Given the description of an element on the screen output the (x, y) to click on. 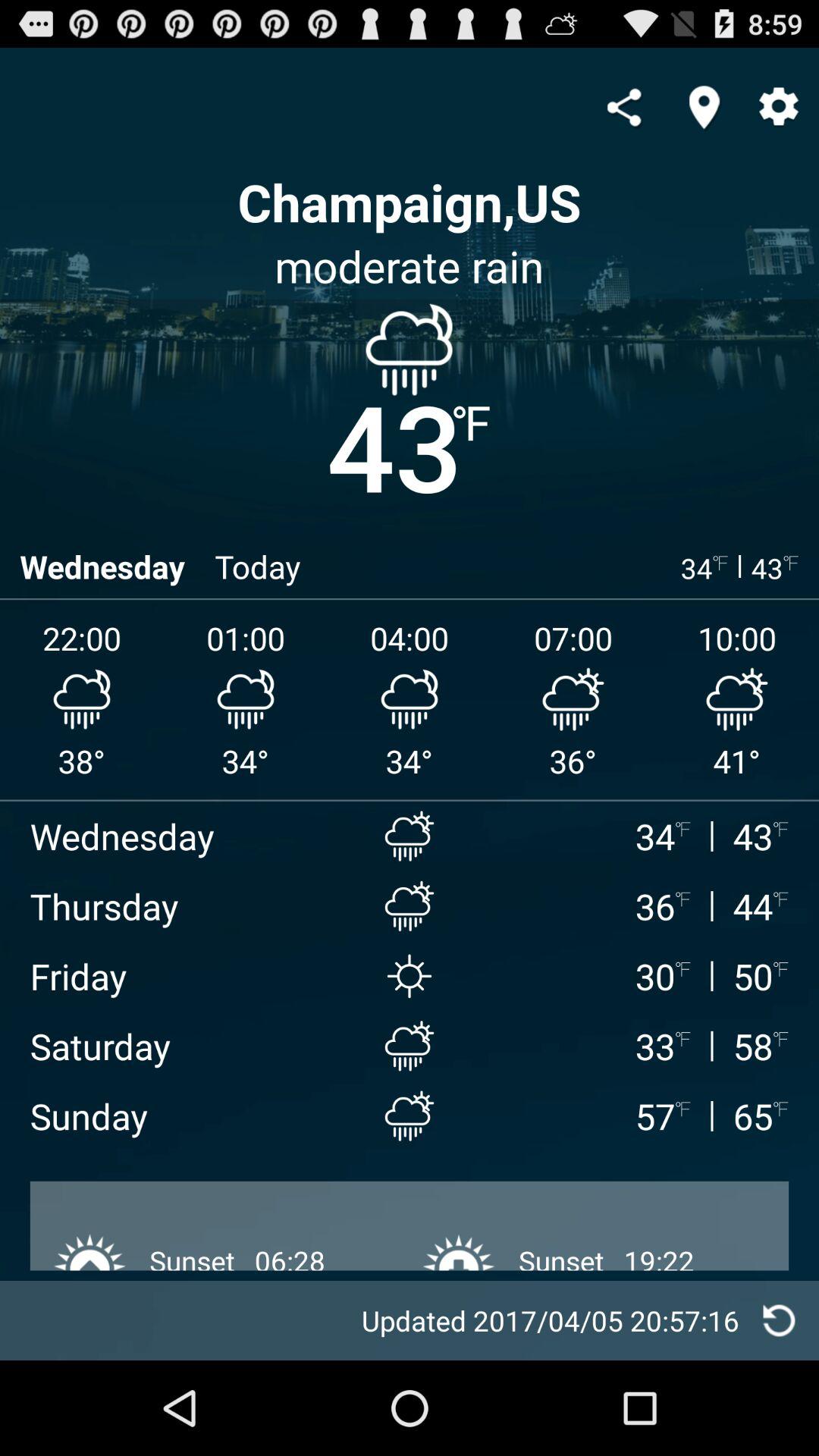
compartilhar (623, 107)
